Given the description of an element on the screen output the (x, y) to click on. 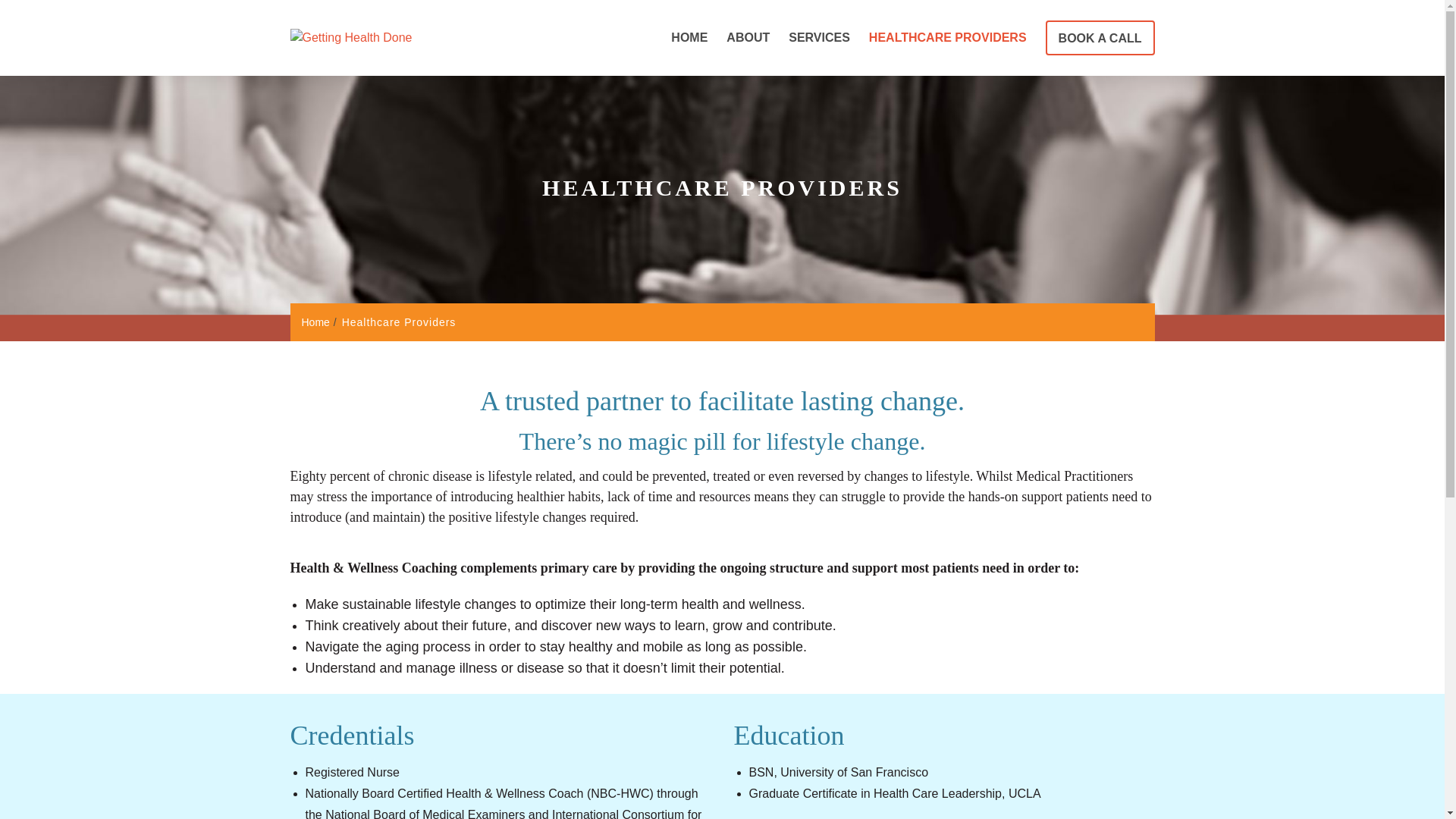
SERVICES (819, 37)
BOOK A CALL (1099, 37)
HOME (689, 37)
HEALTHCARE PROVIDERS (947, 37)
Home (315, 322)
ABOUT (748, 37)
